Given the description of an element on the screen output the (x, y) to click on. 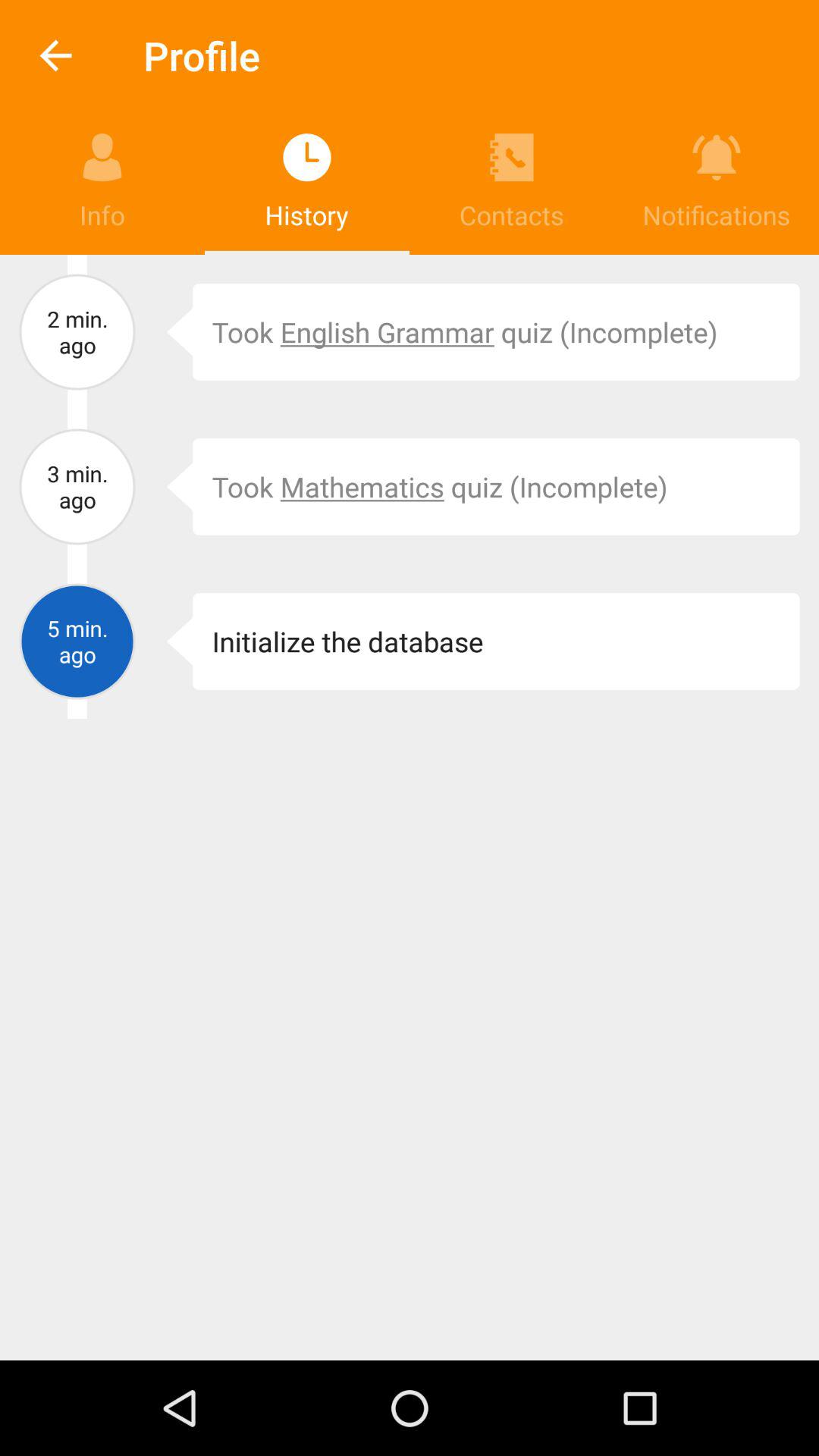
turn off item below the took mathematics quiz icon (168, 641)
